Given the description of an element on the screen output the (x, y) to click on. 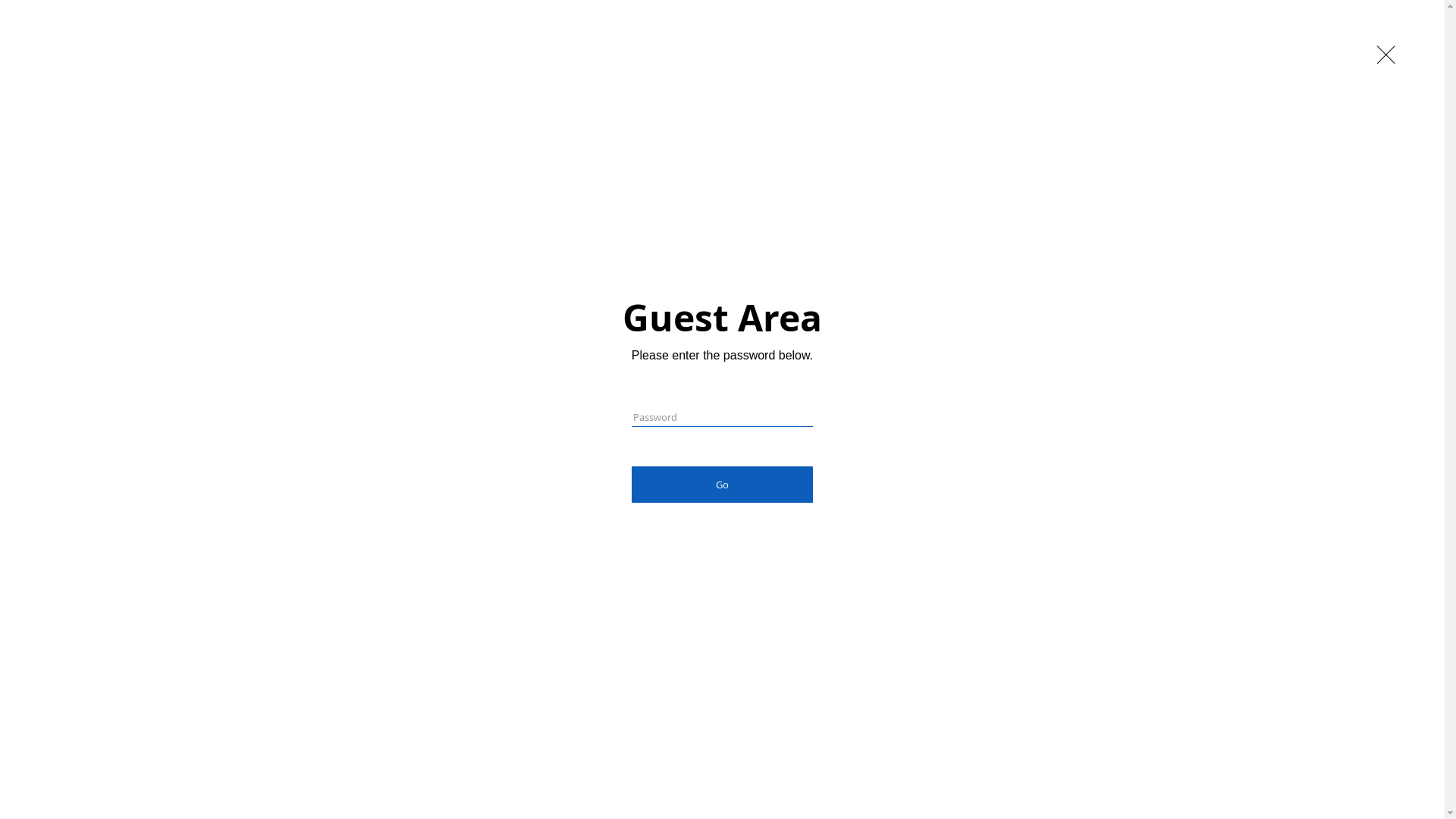
Go Element type: text (721, 484)
